Given the description of an element on the screen output the (x, y) to click on. 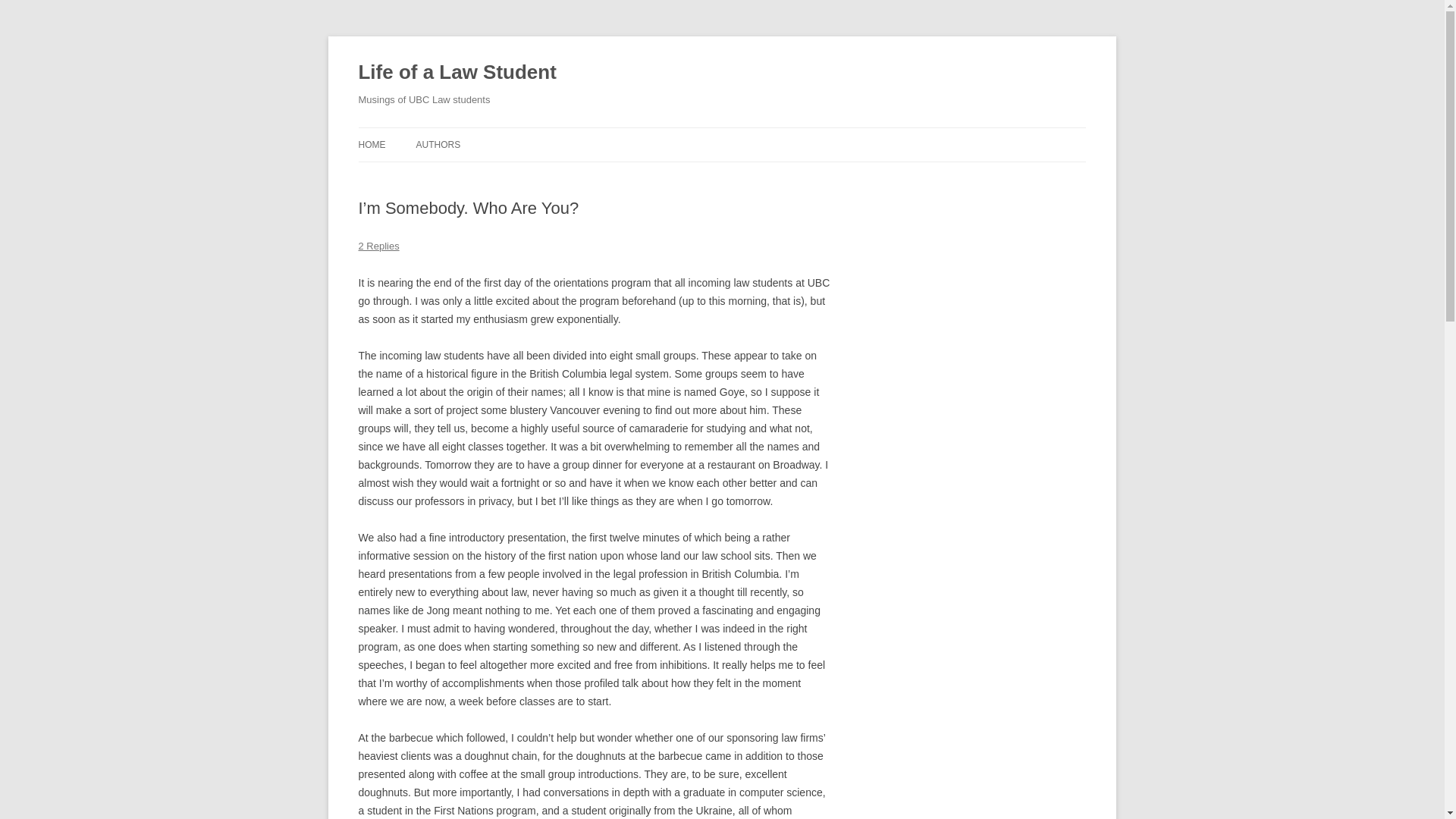
Life of a Law Student (457, 72)
AUTHORS (437, 144)
2 Replies (378, 245)
Life of a Law Student (457, 72)
